Given the description of an element on the screen output the (x, y) to click on. 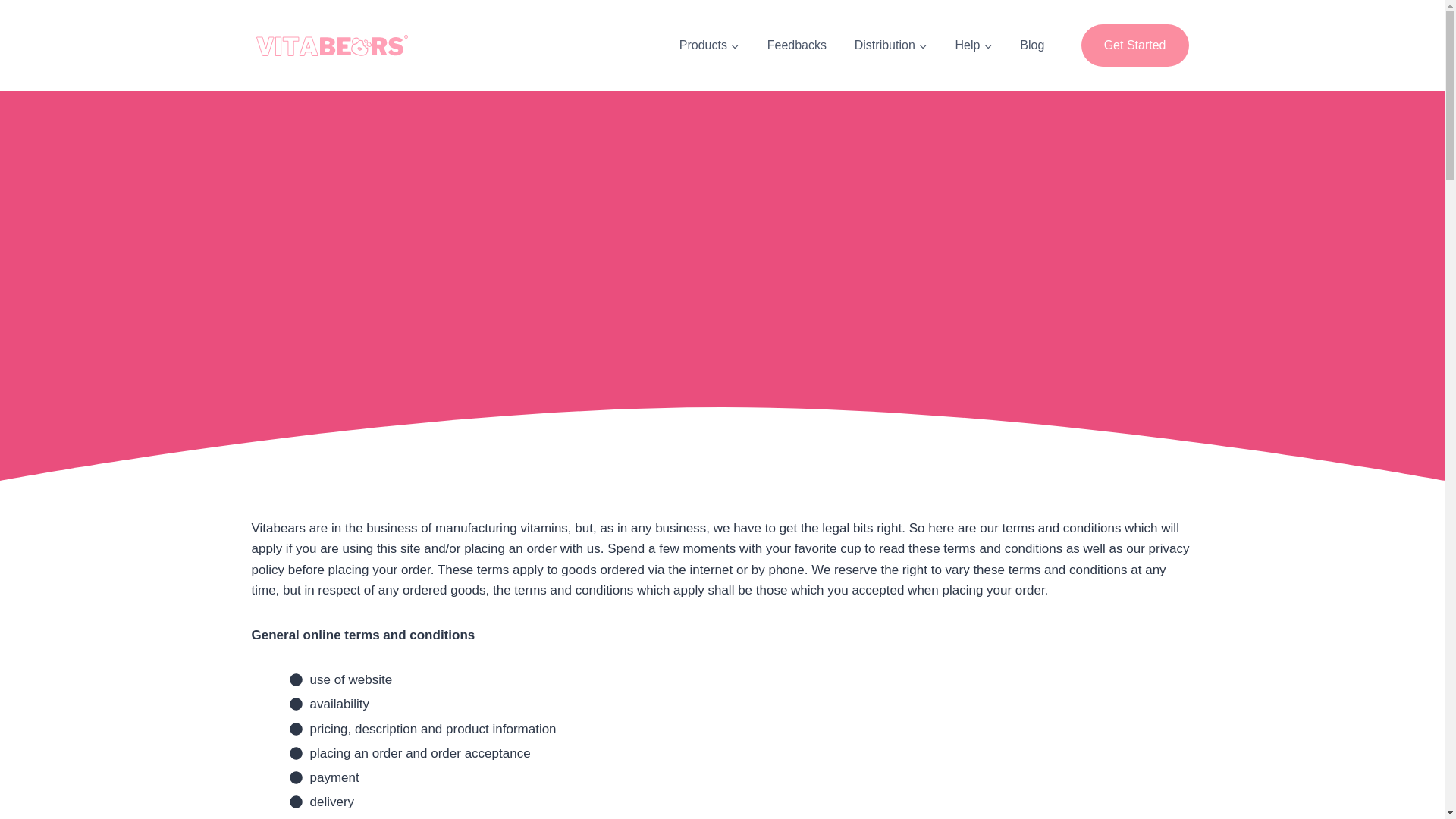
Get Started (1135, 45)
Blog (1032, 45)
Feedbacks (796, 45)
Distribution (890, 45)
Products (708, 45)
Help (973, 45)
